Given the description of an element on the screen output the (x, y) to click on. 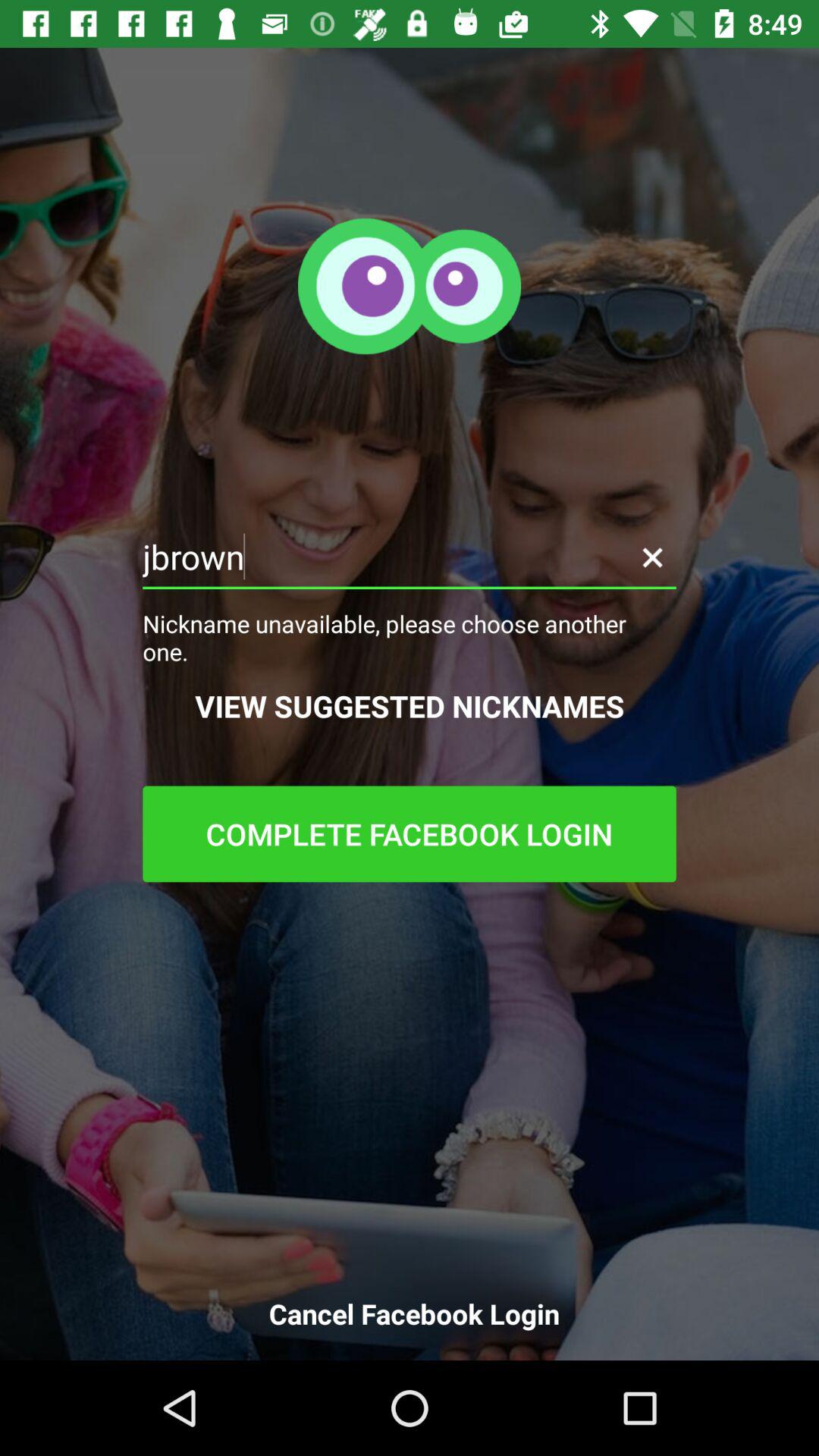
turn on the view suggested nicknames (409, 705)
